Given the description of an element on the screen output the (x, y) to click on. 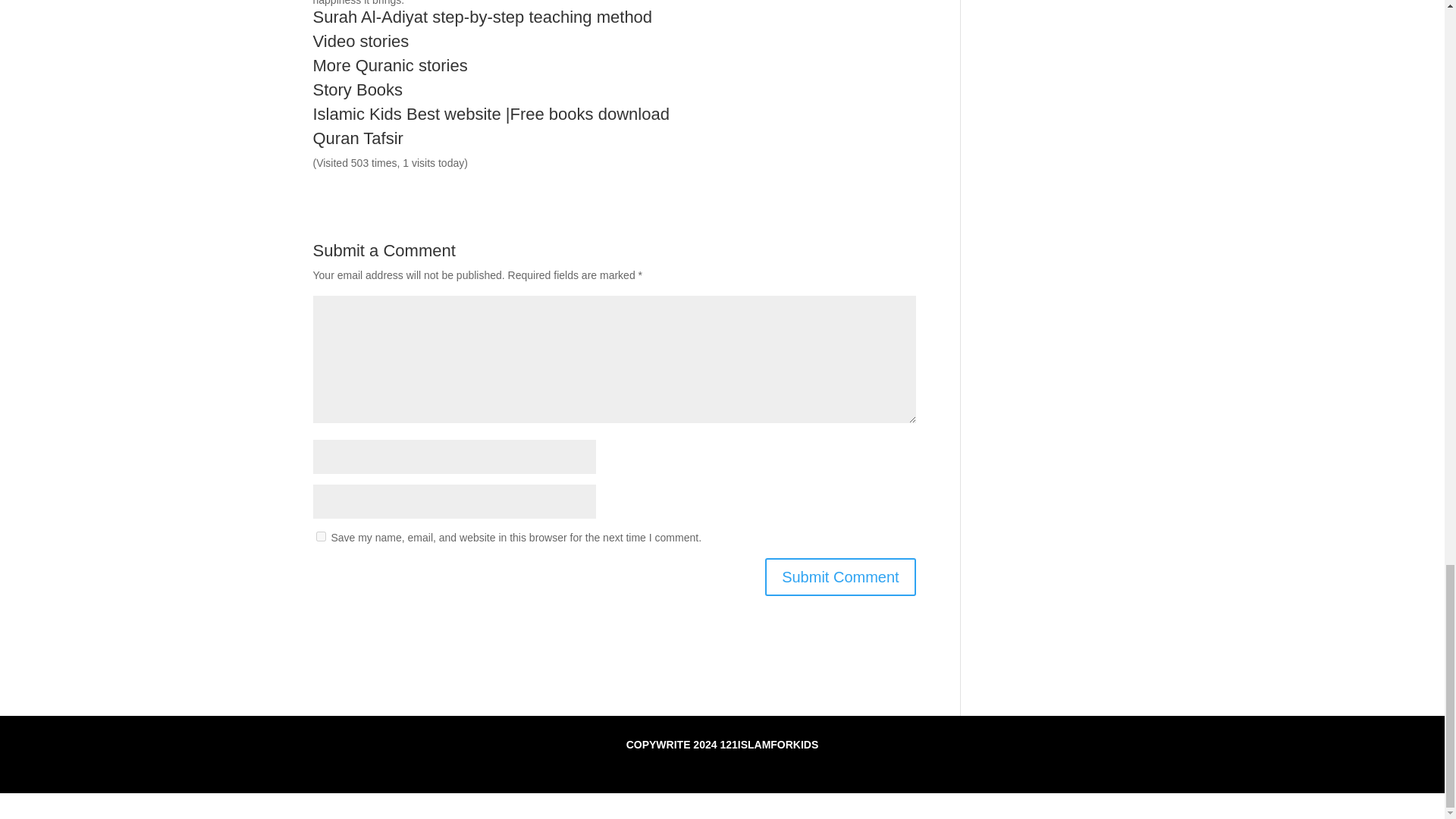
yes (319, 536)
Submit Comment (840, 576)
